Given the description of an element on the screen output the (x, y) to click on. 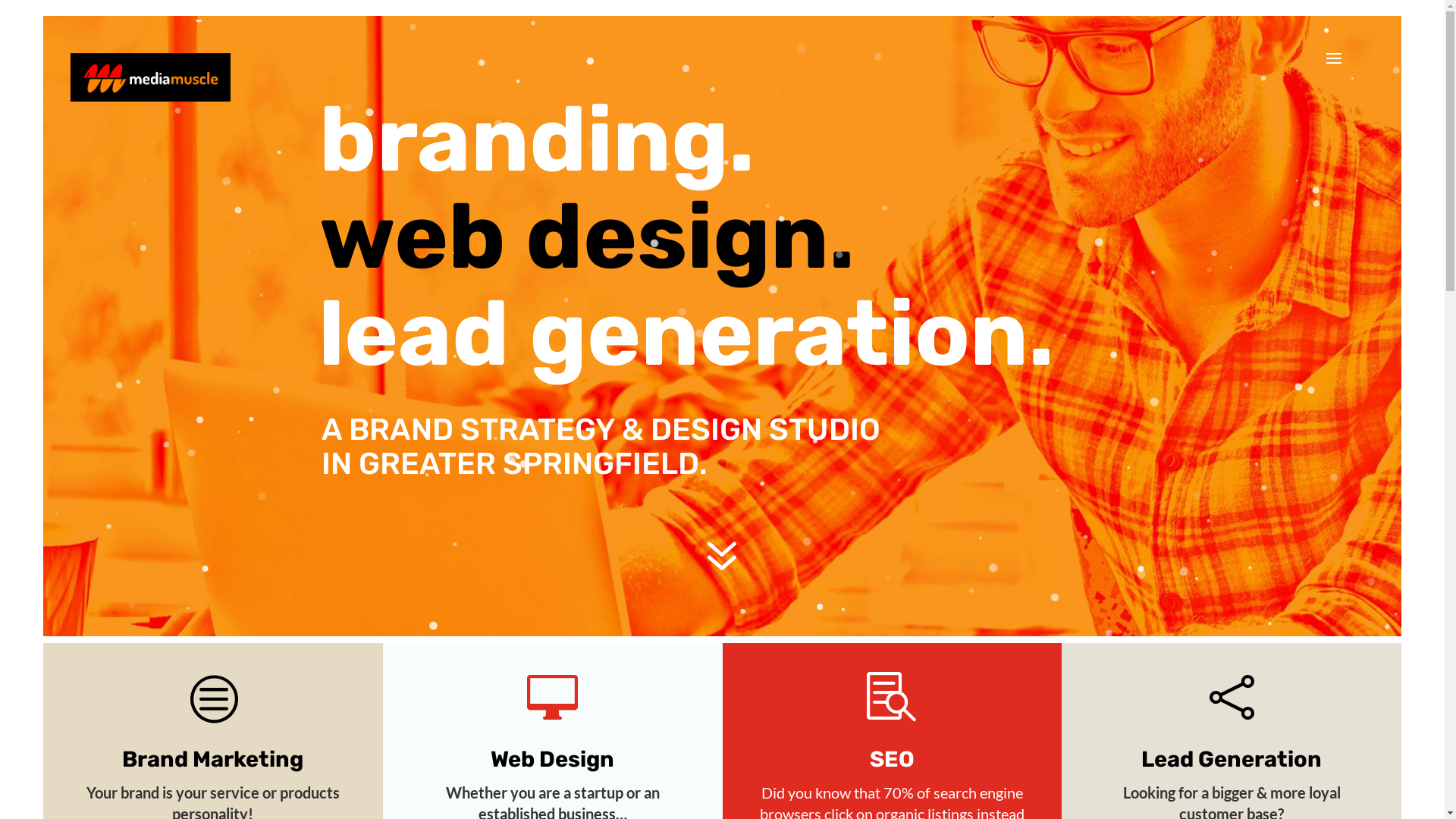
7 Element type: text (722, 555)
